Given the description of an element on the screen output the (x, y) to click on. 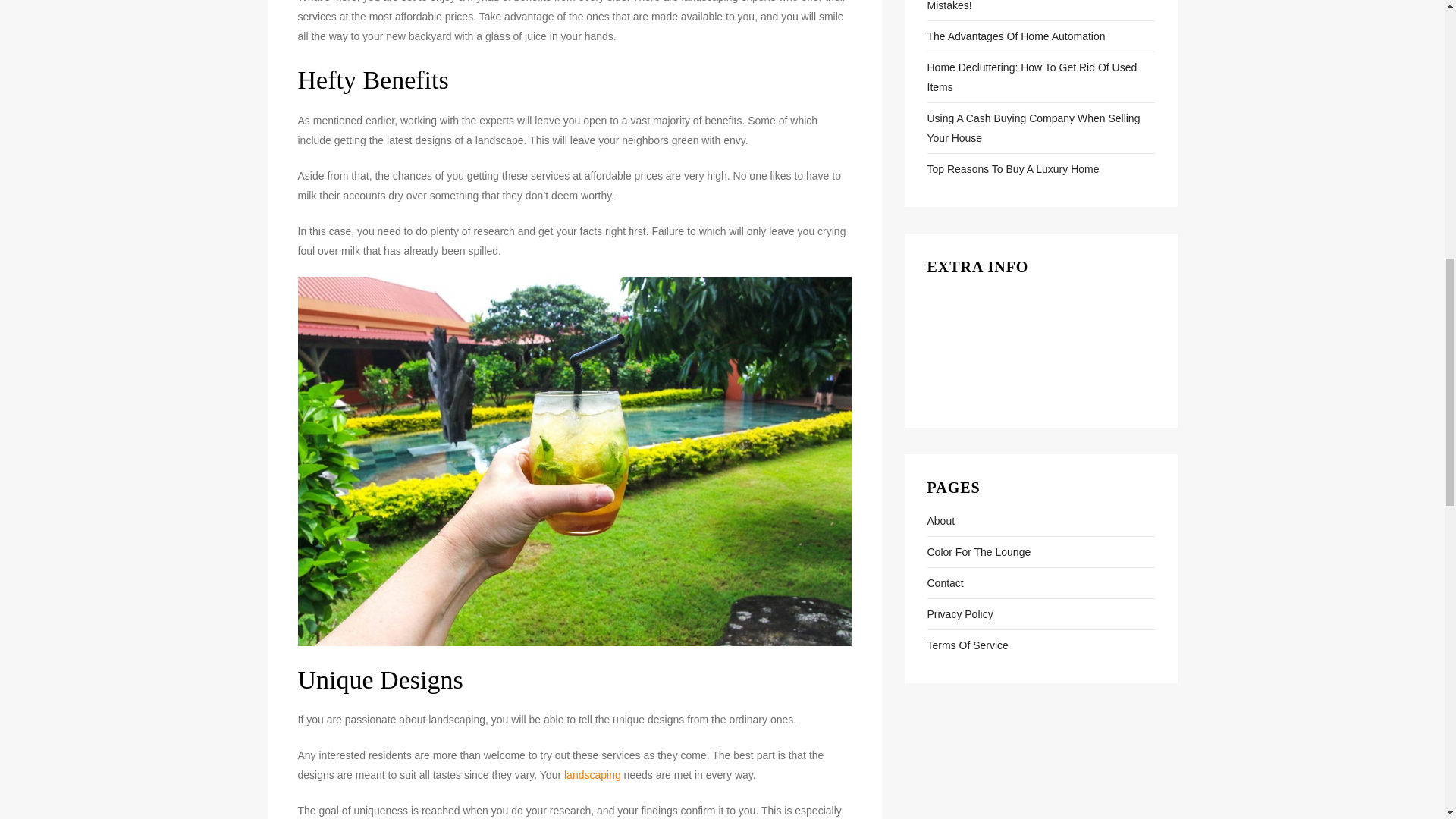
Using A Cash Buying Company When Selling Your House (1040, 128)
Privacy Policy (959, 614)
Color For The Lounge (978, 551)
landscaping (592, 775)
The Advantages Of Home Automation (1015, 35)
Home Decluttering: How To Get Rid Of Used Items (1040, 77)
About (940, 520)
Contact (944, 582)
Terms Of Service (966, 645)
Top Reasons To Buy A Luxury Home (1012, 168)
